Given the description of an element on the screen output the (x, y) to click on. 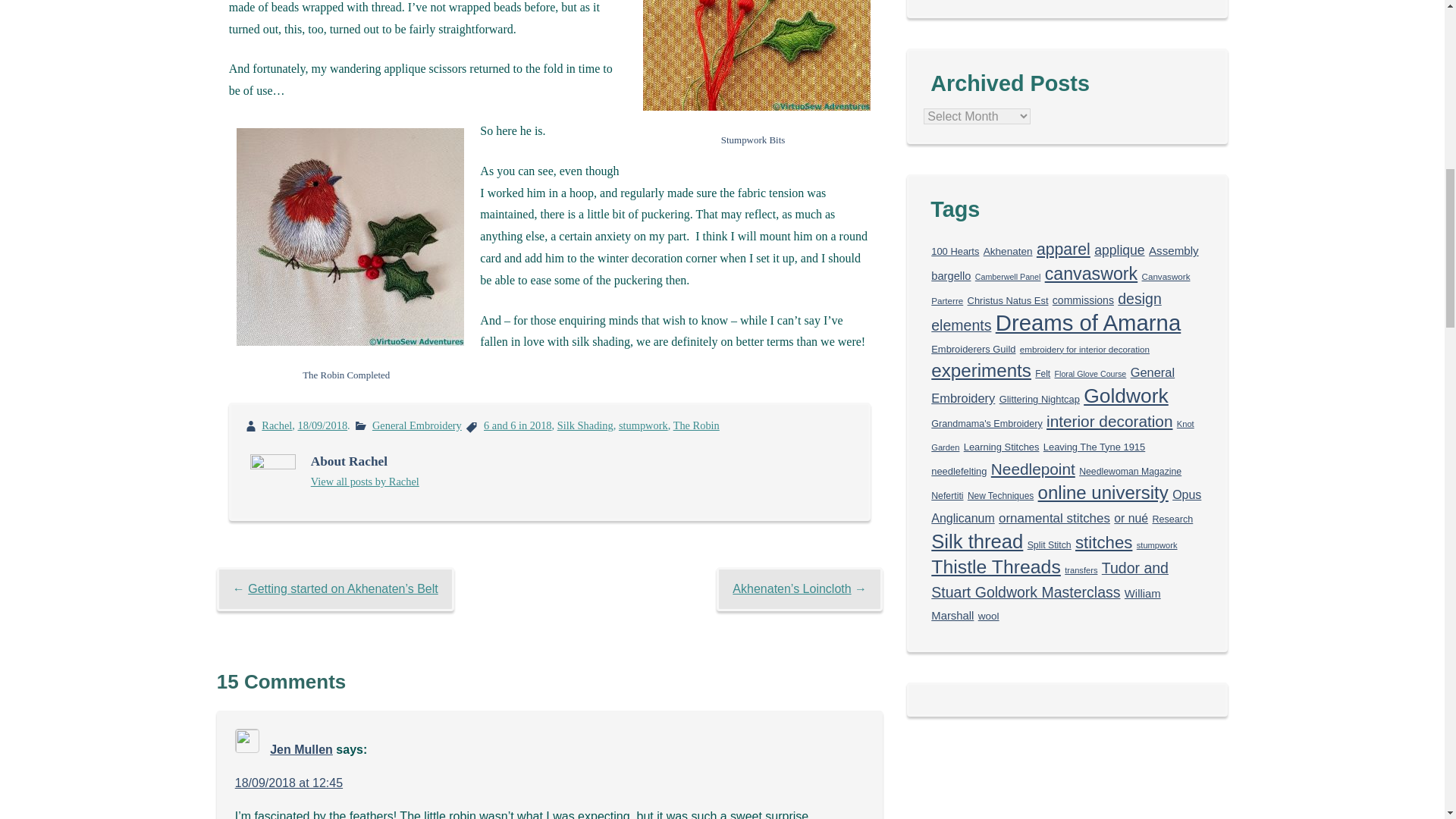
Rachel (277, 425)
Jen Mullen (301, 748)
General Embroidery (416, 425)
View all posts by Rachel (277, 425)
Silk Shading (584, 425)
stumpwork (643, 425)
View all posts by Rachel (365, 481)
6 and 6 in 2018 (517, 425)
The Robin (695, 425)
